Given the description of an element on the screen output the (x, y) to click on. 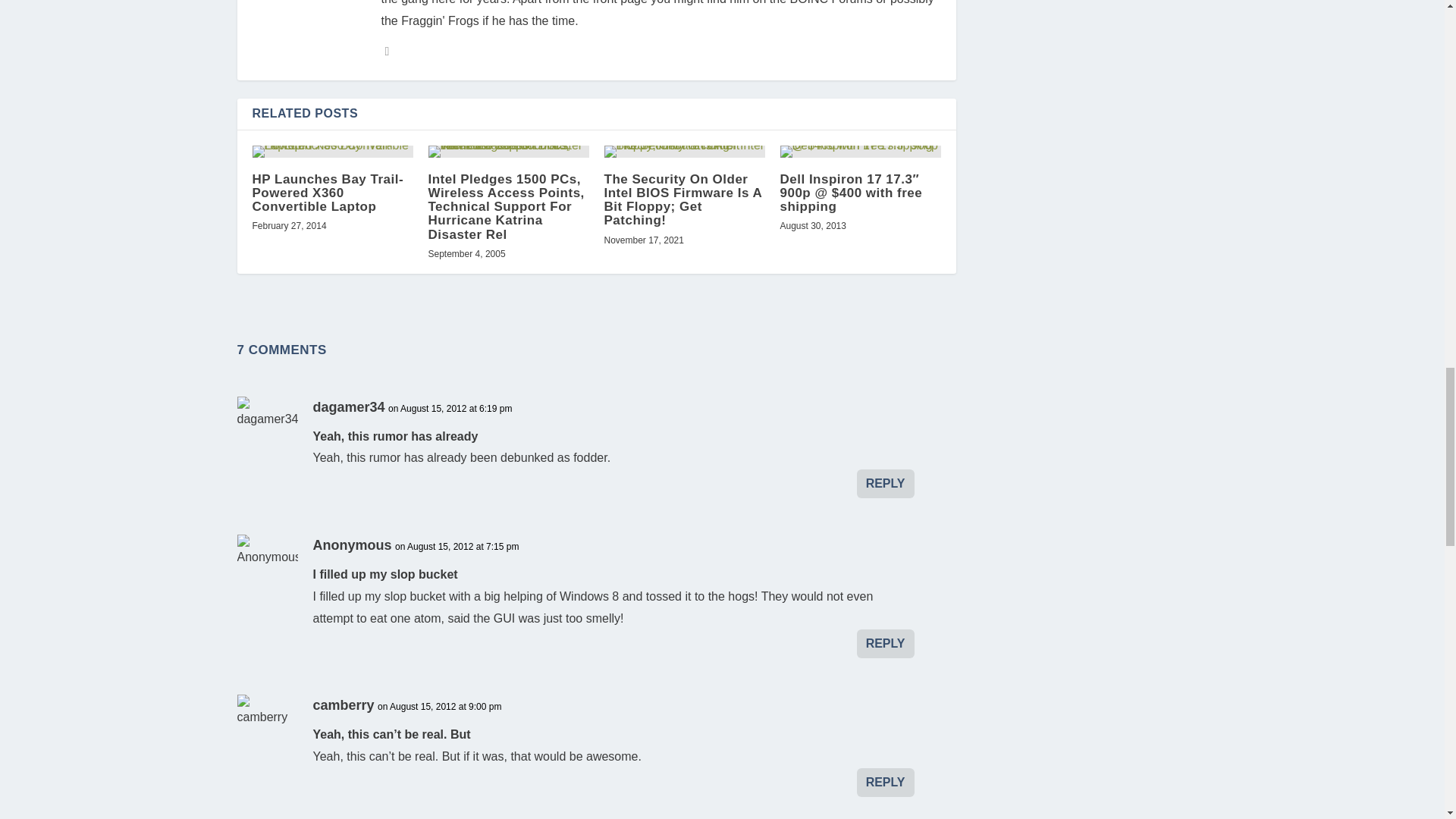
HP Launches Bay Trail-Powered X360 Convertible Laptop (331, 151)
